Given the description of an element on the screen output the (x, y) to click on. 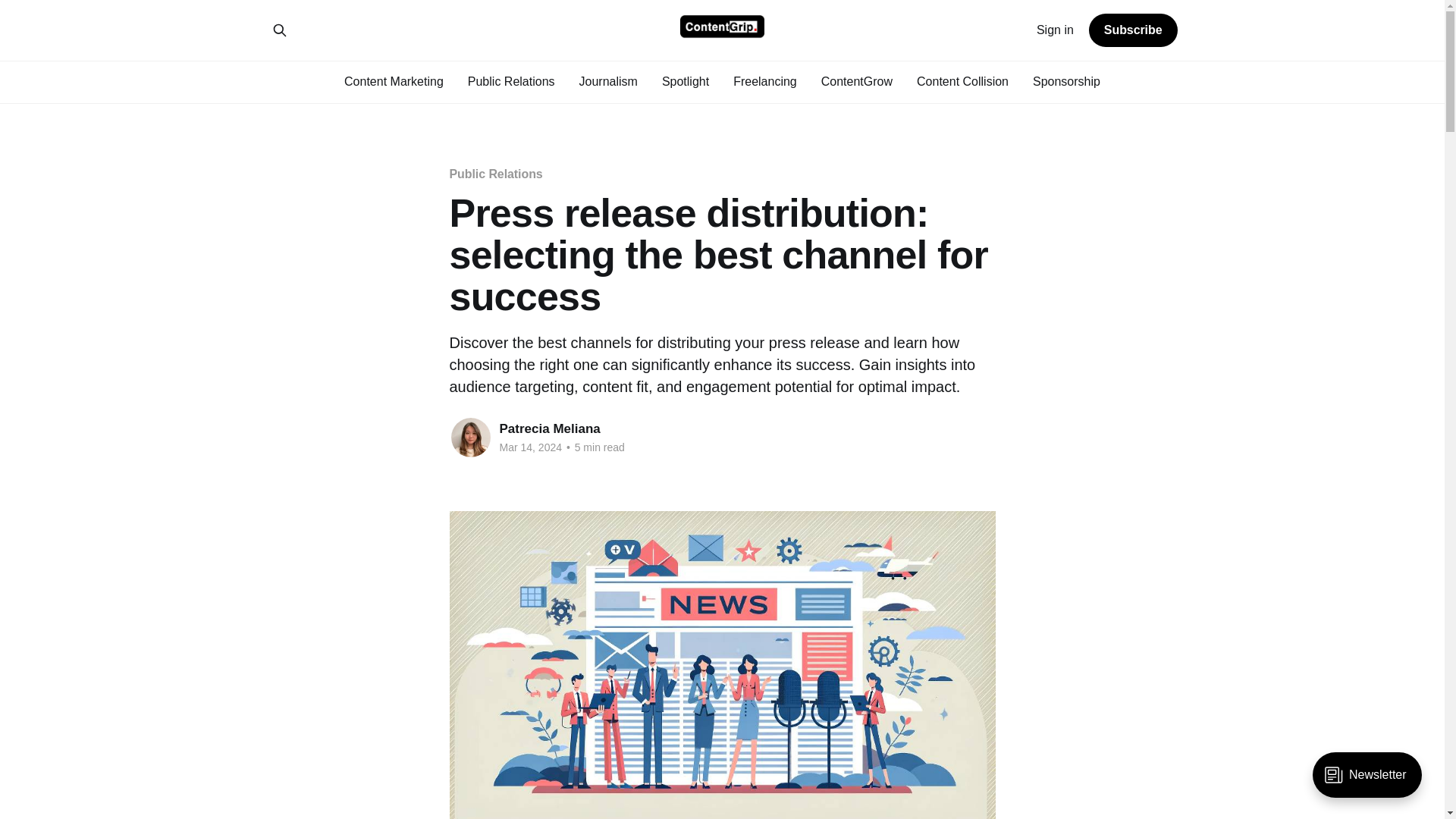
Patrecia Meliana (549, 428)
Sponsorship (1066, 81)
Public Relations (510, 81)
Subscribe (1133, 29)
Content Collision (963, 81)
ContentGrow (856, 81)
Journalism (608, 81)
Freelancing (764, 81)
Public Relations (494, 173)
Content Marketing (393, 81)
Spotlight (685, 81)
Sign in (1055, 30)
